Given the description of an element on the screen output the (x, y) to click on. 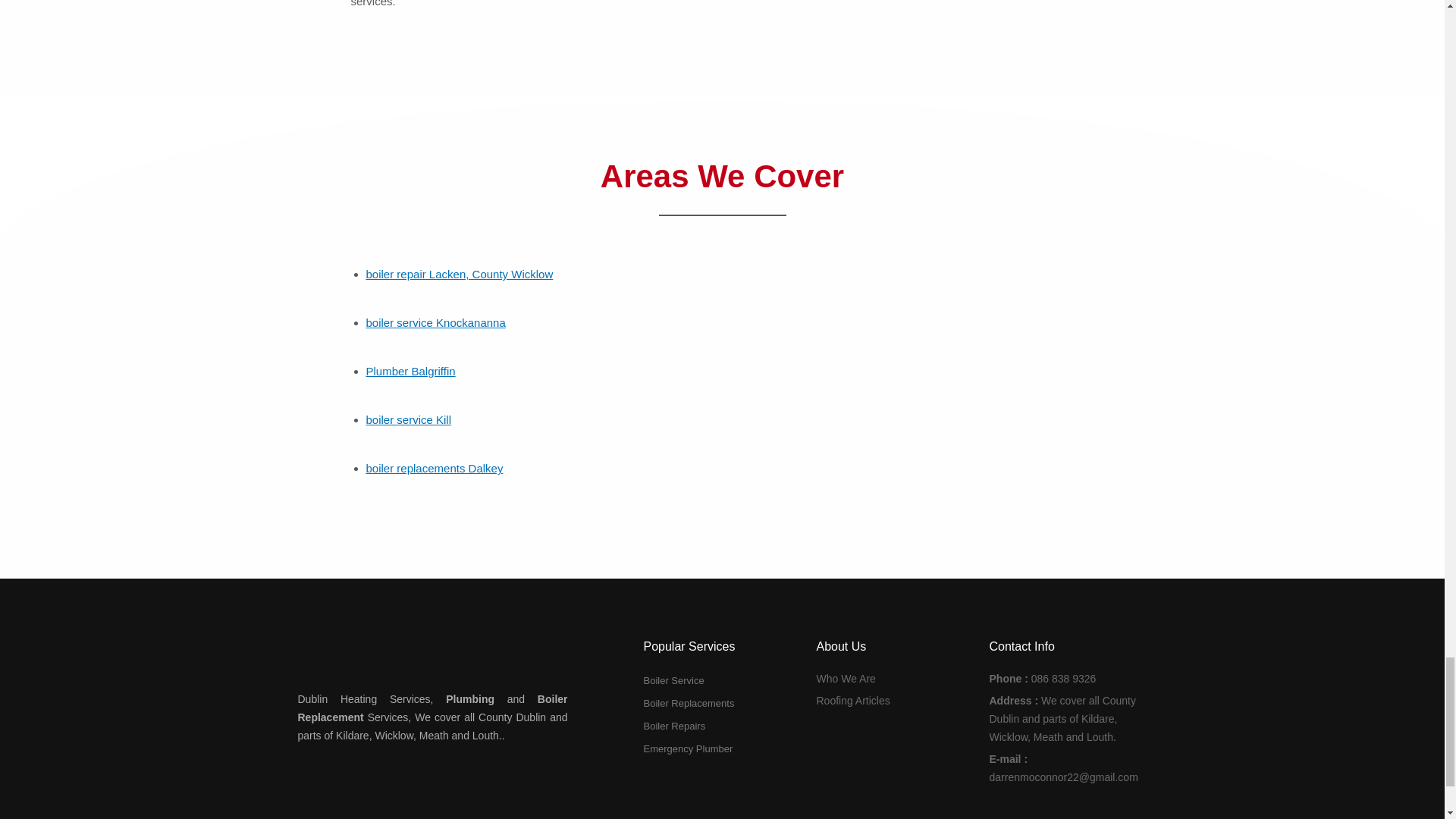
boiler service Knockananna (435, 322)
Boiler Service (721, 680)
boiler service Kill (408, 419)
boiler service Kill (408, 419)
boiler service Knockananna (435, 322)
boiler repair Lacken, County Wicklow (459, 273)
boiler repair Lacken, County Wicklow (459, 273)
boiler replacements Dalkey (433, 468)
Plumber Balgriffin (409, 370)
Plumber Balgriffin (409, 370)
